Given the description of an element on the screen output the (x, y) to click on. 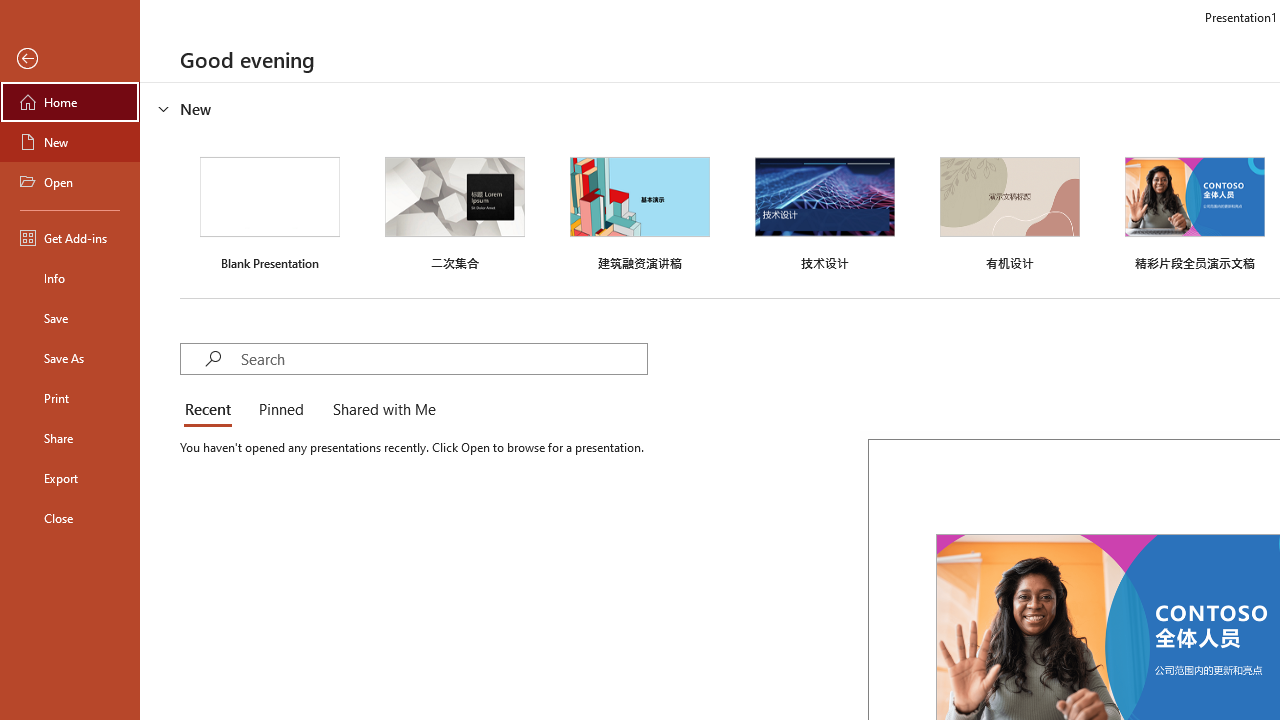
Print (69, 398)
Save As (69, 357)
Recent (212, 410)
Blank Presentation (269, 211)
Shared with Me (379, 410)
Export (69, 477)
Back (69, 59)
